Given the description of an element on the screen output the (x, y) to click on. 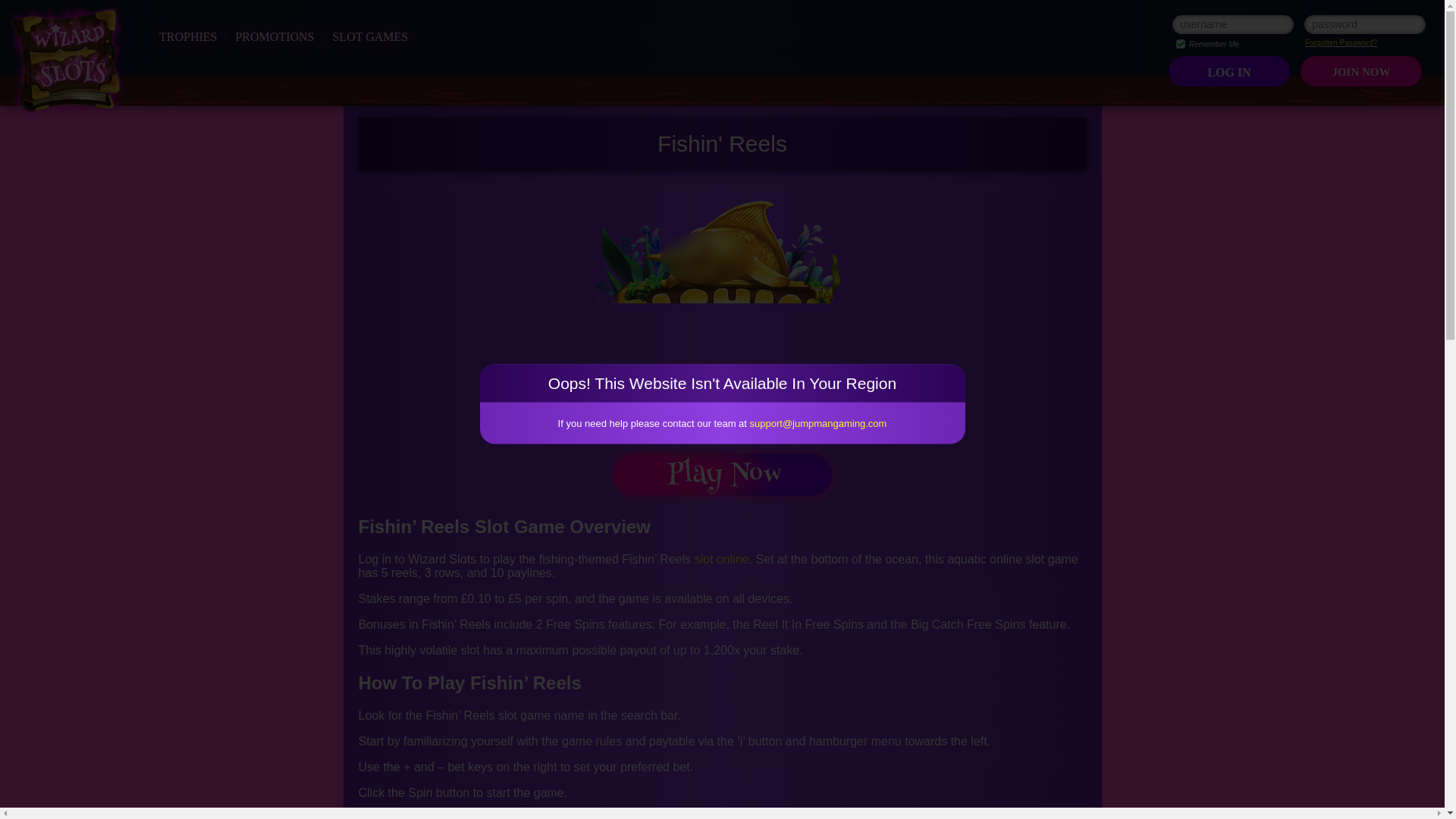
SLOT GAMES (369, 36)
PROMOTIONS (274, 36)
Online slots site - Wizard Slots (66, 60)
slot online (721, 558)
Forgotten Password? (1340, 42)
1 (1180, 43)
TROPHIES (187, 36)
